Given the description of an element on the screen output the (x, y) to click on. 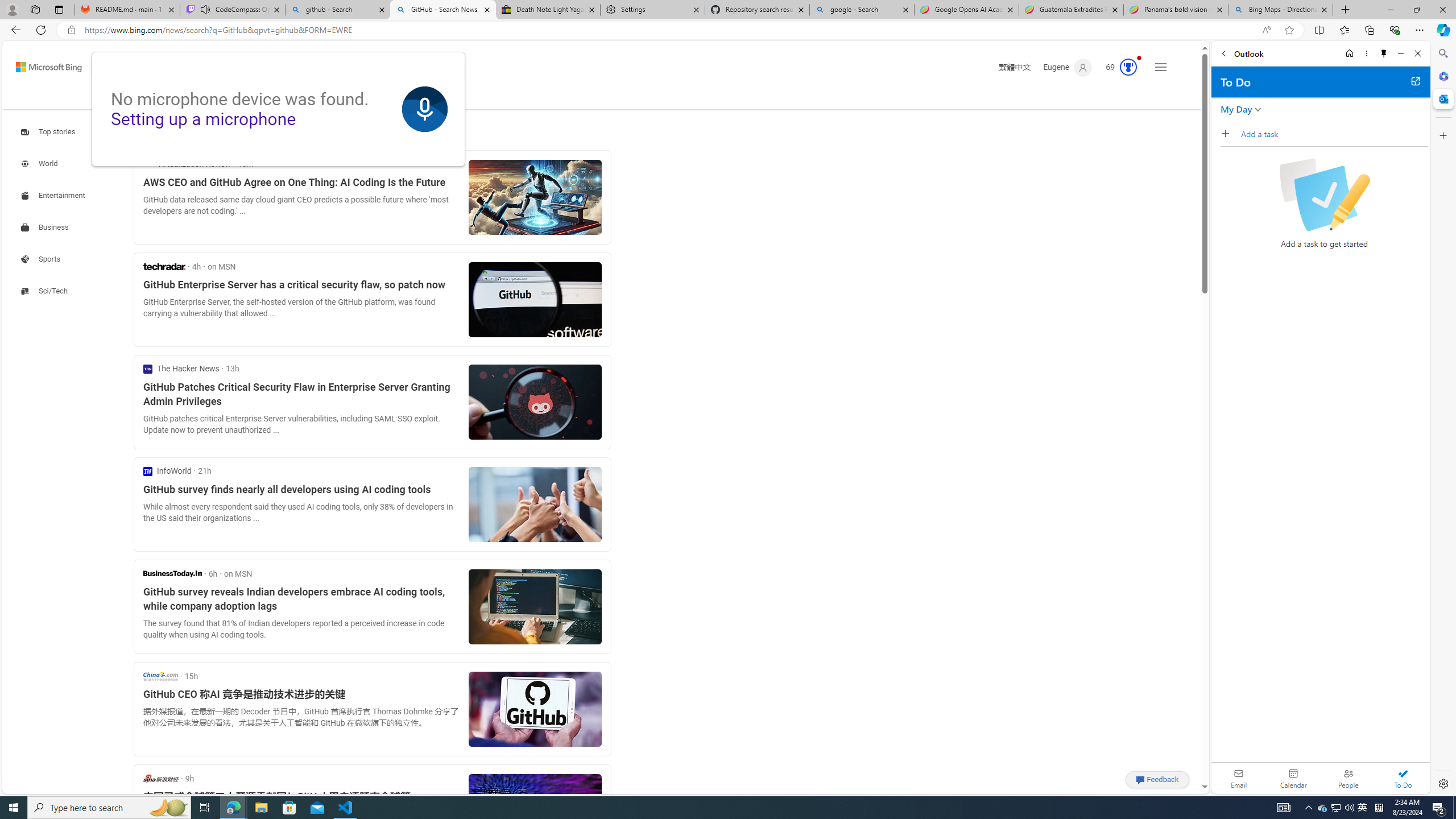
Mute tab (204, 8)
Restore (1416, 9)
Microsoft 365 (1442, 76)
Add a task (1228, 133)
Back to Bing search (41, 64)
Side bar (1443, 418)
Eugene (1067, 67)
Back (1223, 53)
Search news from Virtualization Review (186, 163)
Refresh (40, 29)
More options (1366, 53)
